Given the description of an element on the screen output the (x, y) to click on. 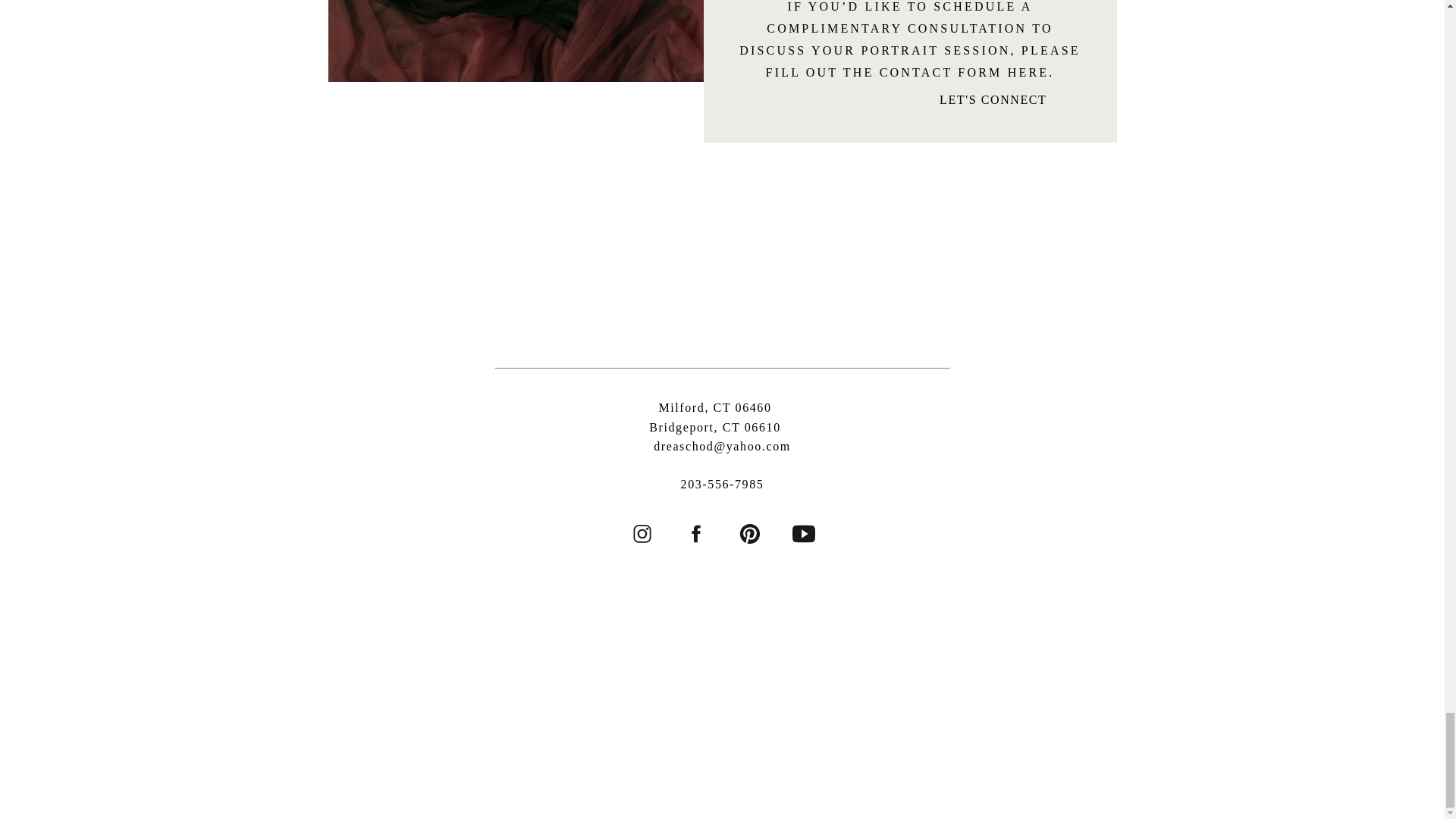
LET'S CONNECT (956, 98)
203-556-7985 (715, 420)
